Given the description of an element on the screen output the (x, y) to click on. 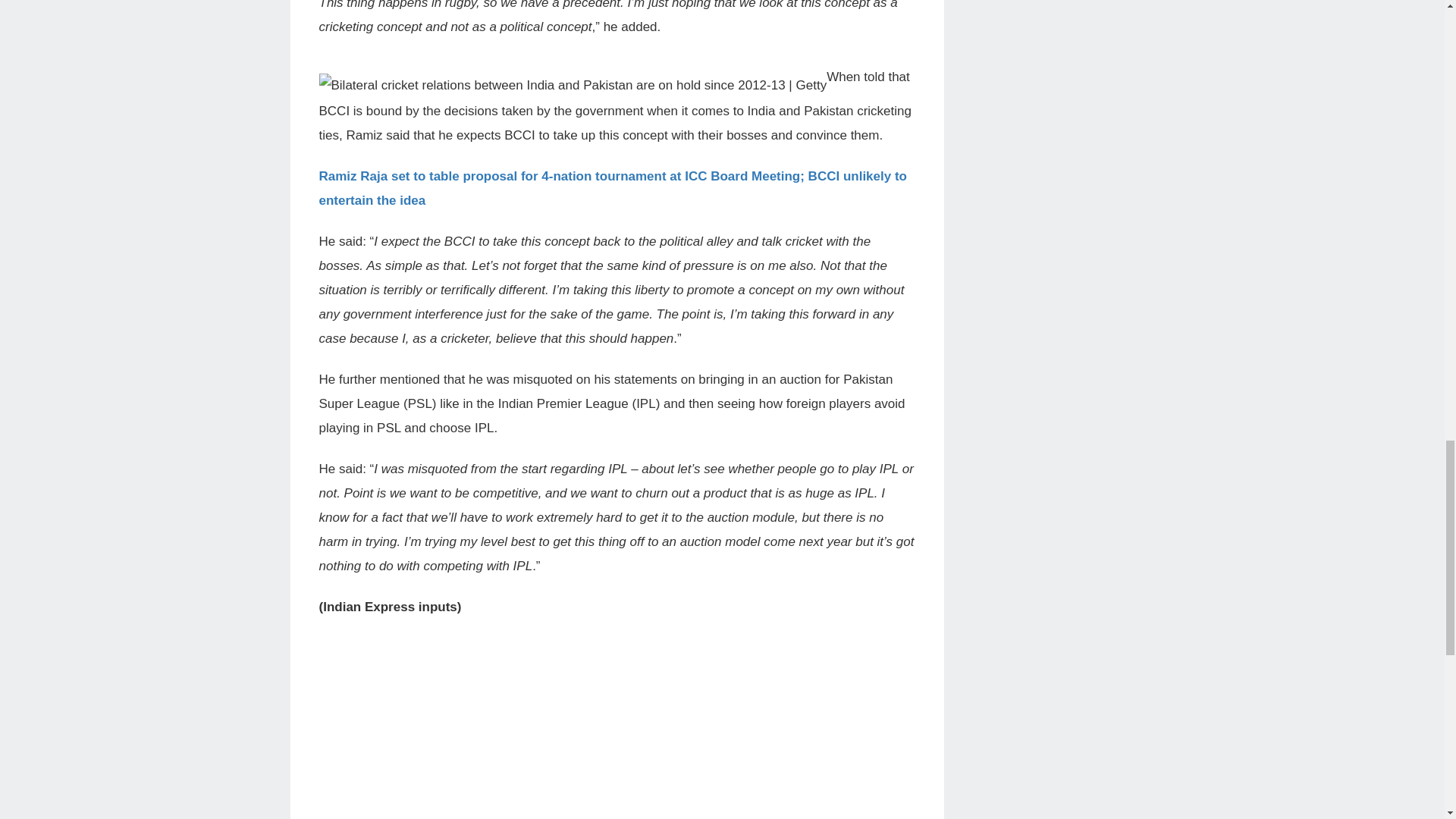
Advertisement (617, 735)
